Given the description of an element on the screen output the (x, y) to click on. 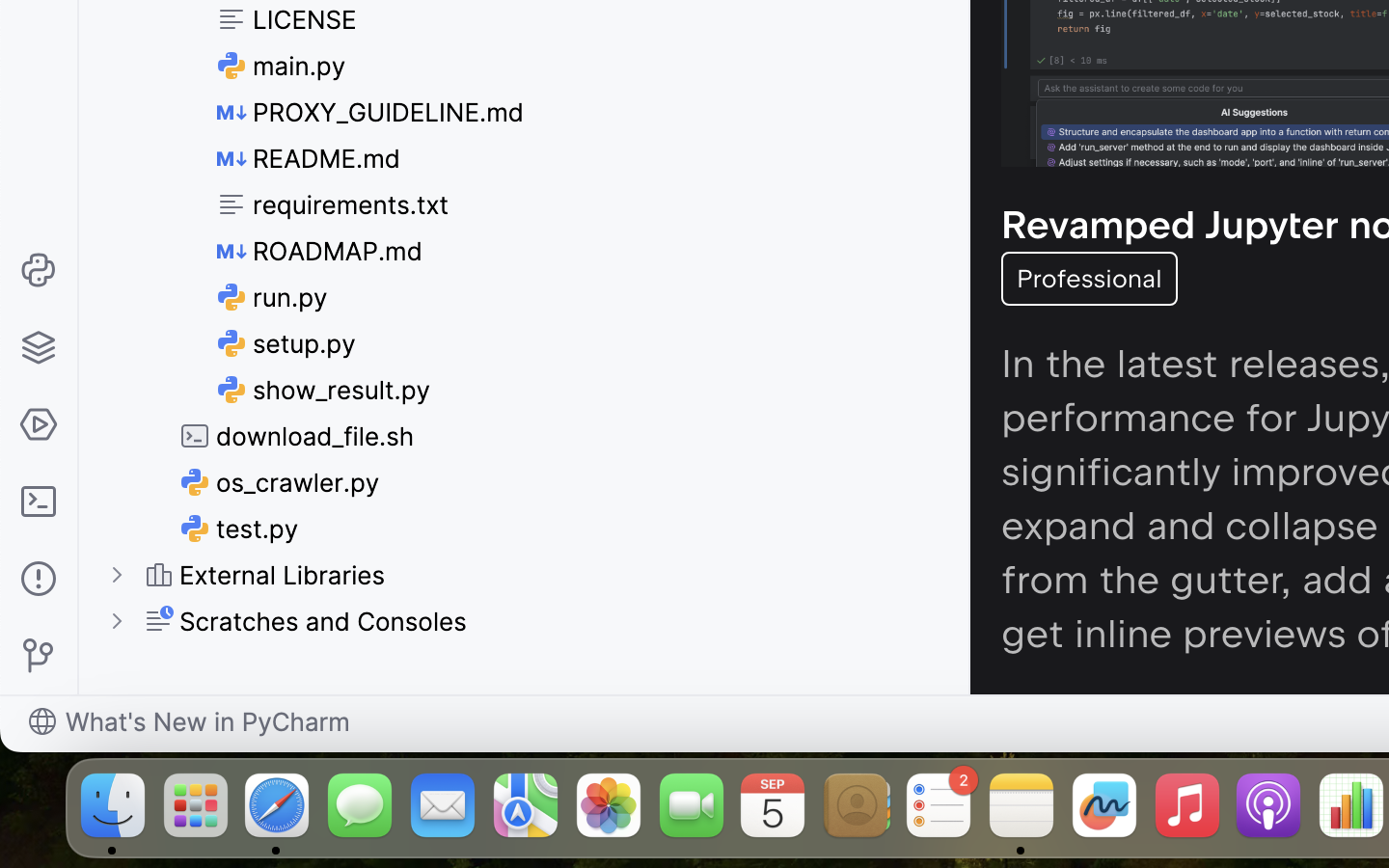
test.py Element type: AXStaticText (239, 528)
README.md Element type: AXStaticText (309, 158)
run.py Element type: AXStaticText (272, 296)
PROXY_GUIDELINE.md Element type: AXStaticText (371, 111)
0 Element type: AXStaticText (305, 620)
